Given the description of an element on the screen output the (x, y) to click on. 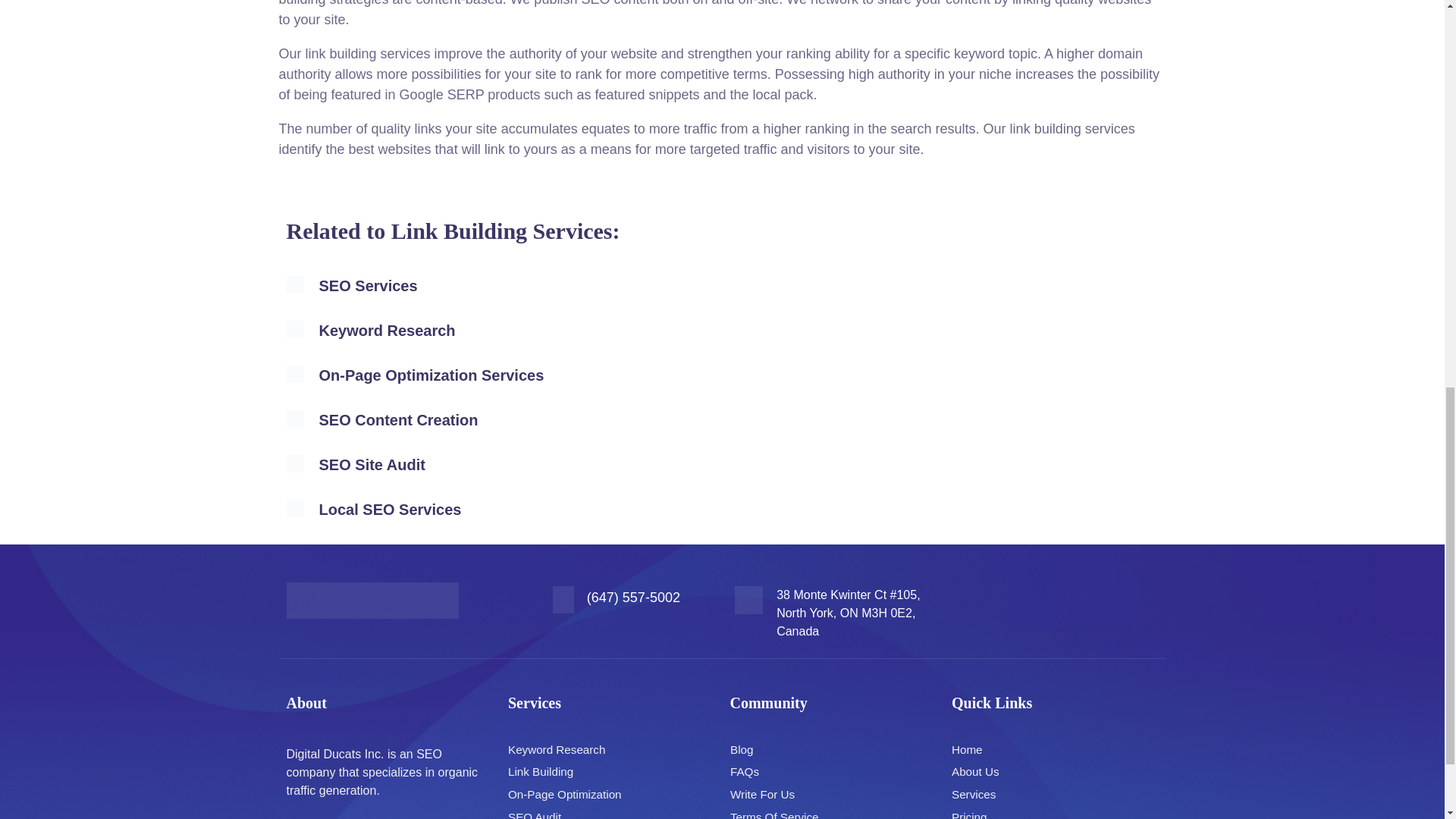
Keyword Research (386, 330)
SEO Site Audit (371, 464)
DigitalDucats (372, 600)
On-Page Optimization Services (430, 375)
blue-chek-icon (295, 418)
SEO Content Creation (397, 419)
SEO Services (367, 285)
